Given the description of an element on the screen output the (x, y) to click on. 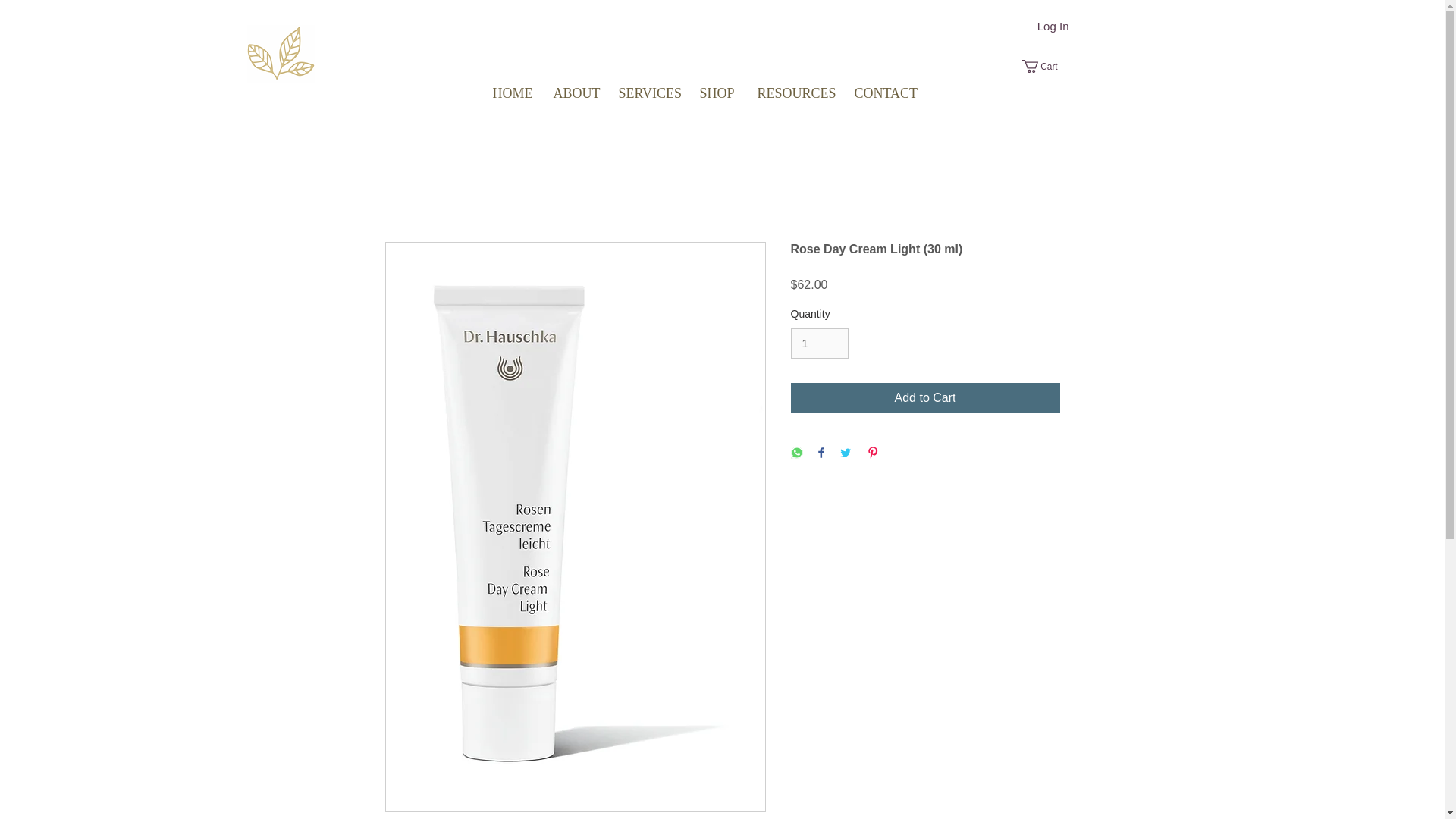
RESOURCES (794, 93)
SERVICES (647, 93)
CONTACT (883, 93)
Cart (1046, 65)
Log In (1053, 25)
ABOUT (574, 93)
HOME (510, 93)
1 (818, 343)
Cart (1046, 65)
Add to Cart (924, 398)
